Given the description of an element on the screen output the (x, y) to click on. 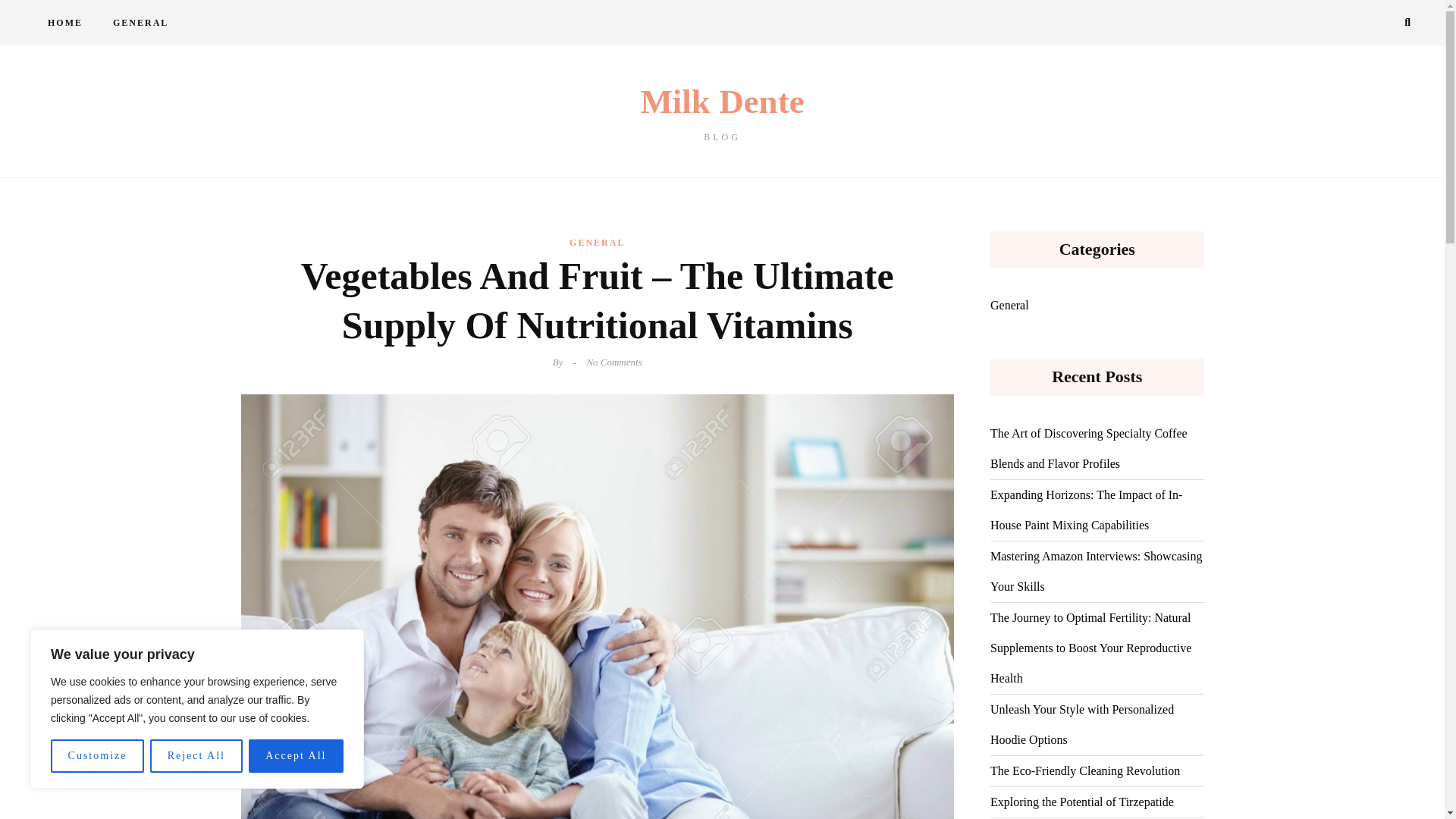
GENERAL (140, 22)
HOME (64, 22)
Reject All (196, 756)
Customize (97, 756)
Accept All (295, 756)
GENERAL (596, 241)
General (1009, 305)
